Given the description of an element on the screen output the (x, y) to click on. 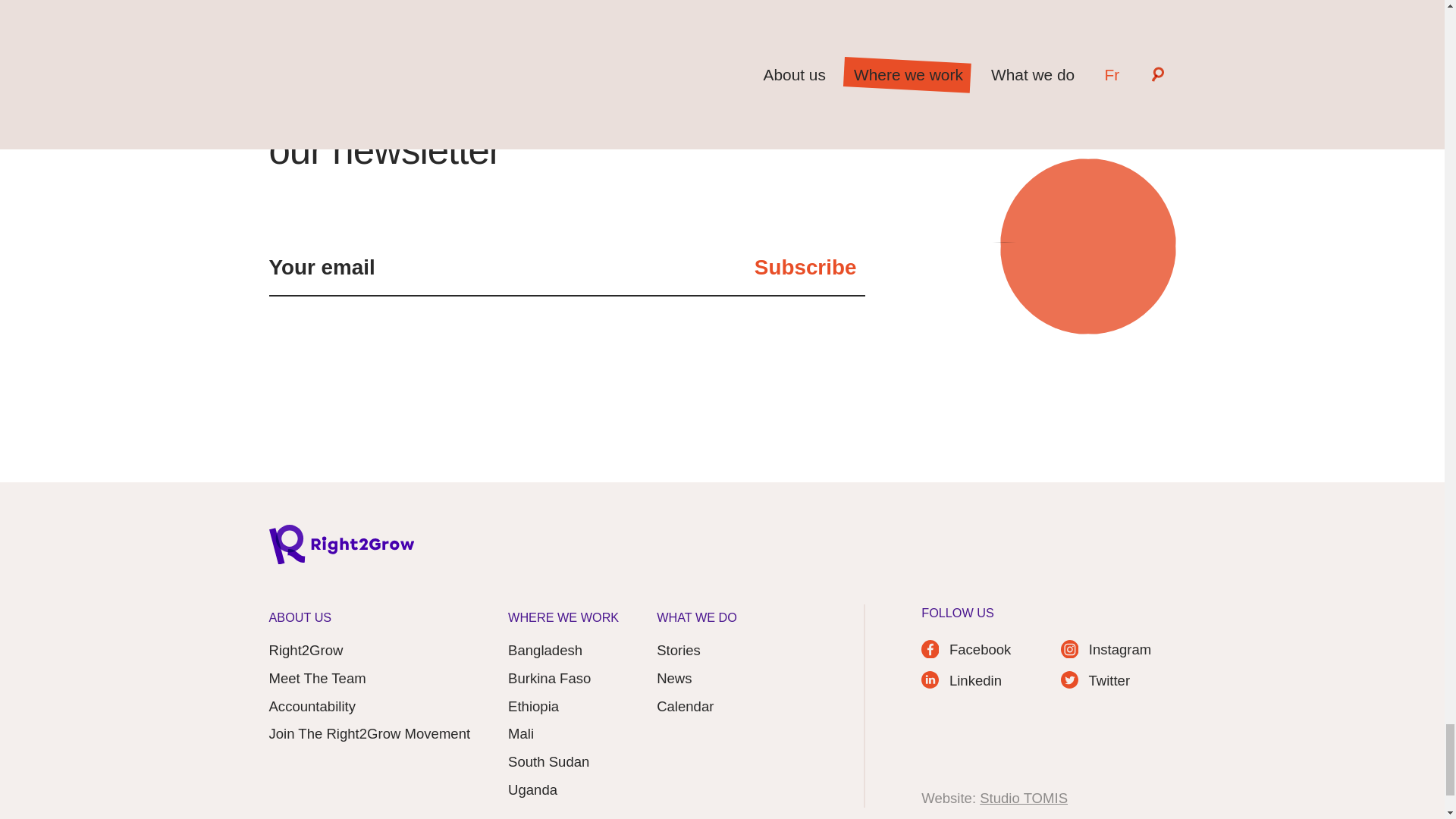
Homepage Right2Grow (340, 548)
Homepage Right2Grow (340, 548)
Meet The Team (316, 678)
Bangladesh (545, 650)
Accountability (311, 706)
Right2Grow (304, 650)
Subscribe (804, 267)
Join The Right2Grow Movement (368, 733)
